Given the description of an element on the screen output the (x, y) to click on. 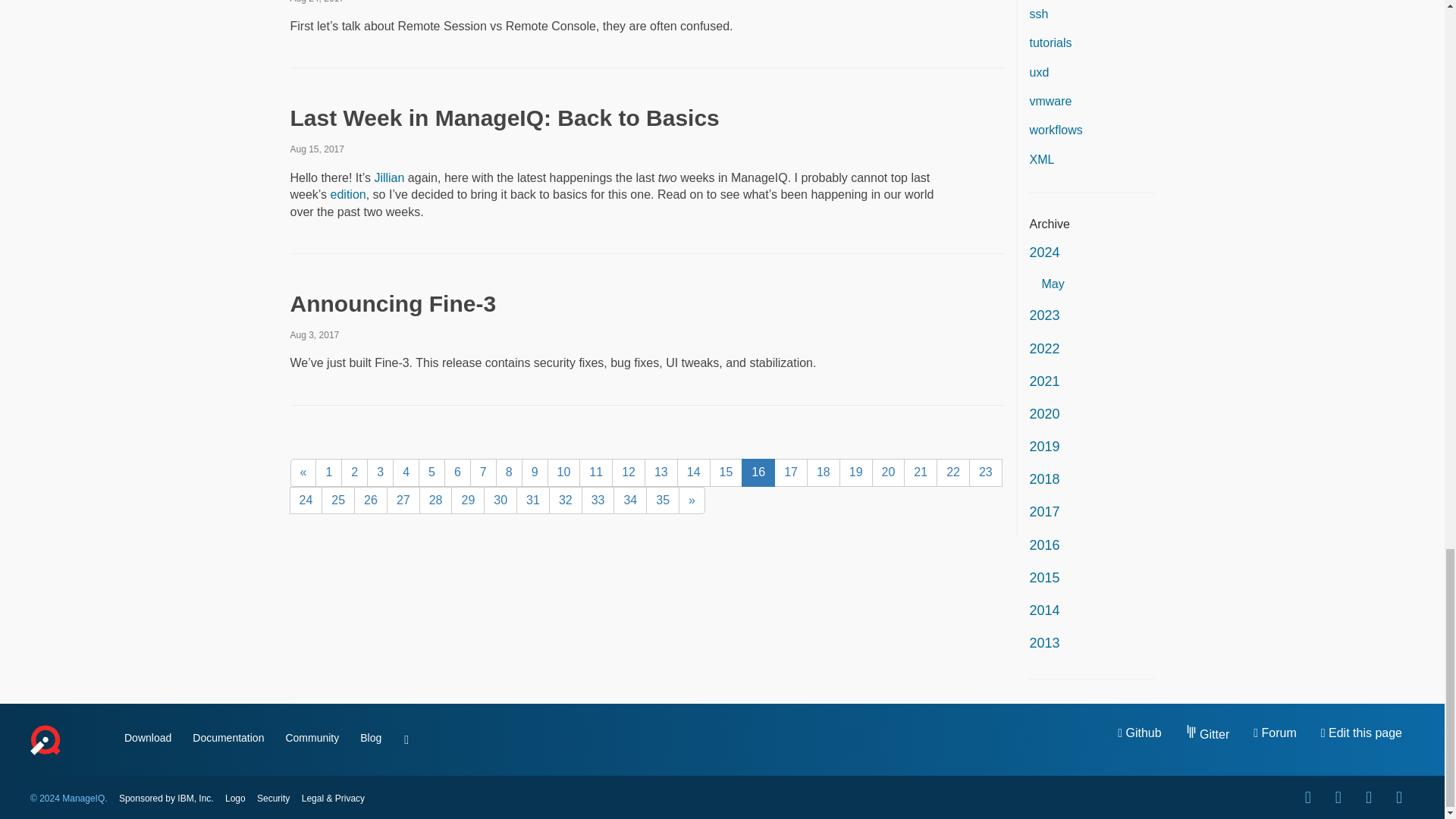
6 (457, 472)
Jillian (389, 177)
edition (348, 194)
Last Week in ManageIQ: Back to Basics (504, 117)
1 (328, 472)
Announcing Fine-3 (392, 303)
4 (406, 472)
5 (432, 472)
3 (379, 472)
2 (354, 472)
